Given the description of an element on the screen output the (x, y) to click on. 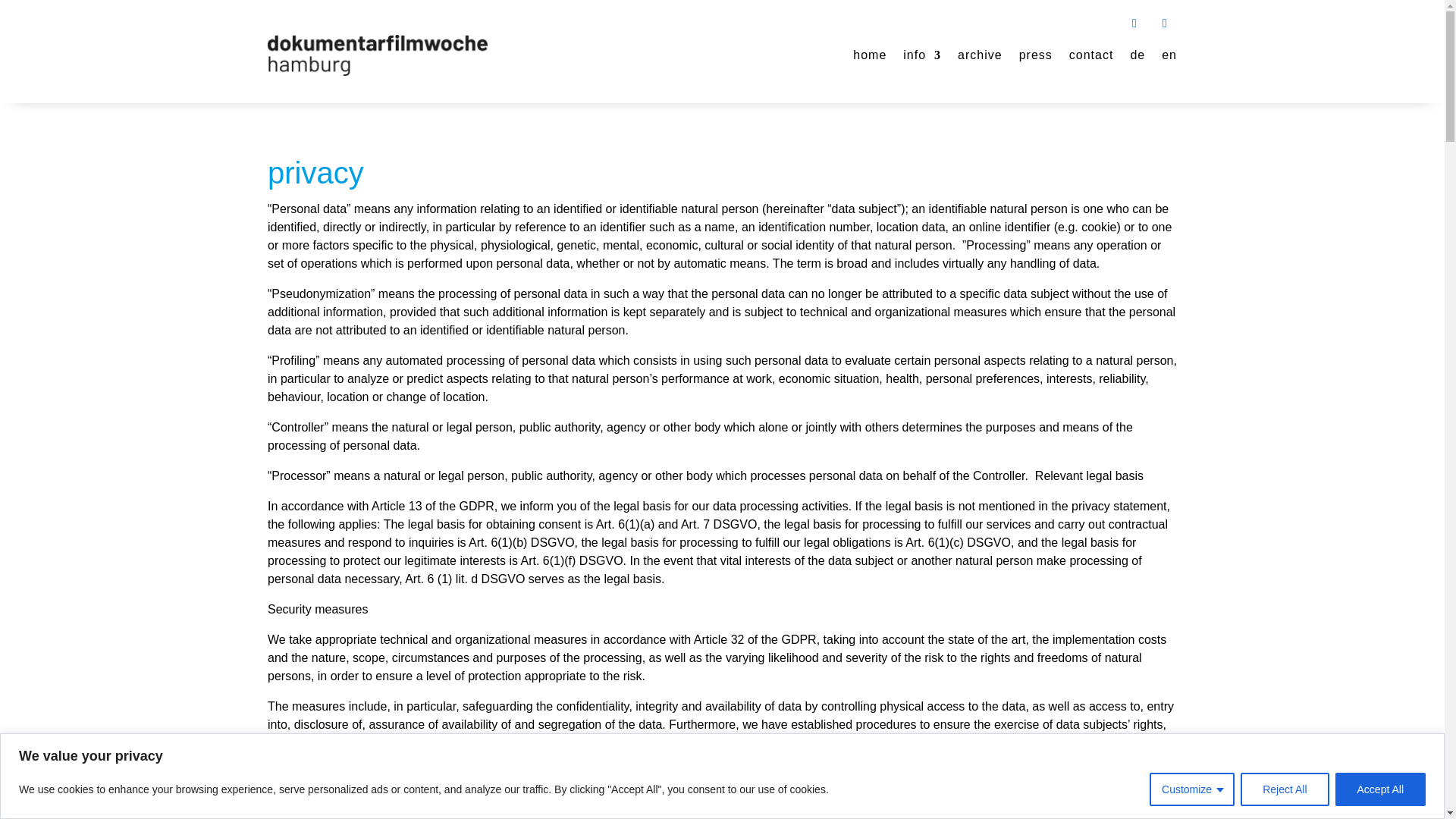
Follow on Facebook (1164, 23)
Follow on Instagram (1134, 23)
Customize (1192, 788)
Accept All (1380, 788)
Reject All (1283, 788)
